Given the description of an element on the screen output the (x, y) to click on. 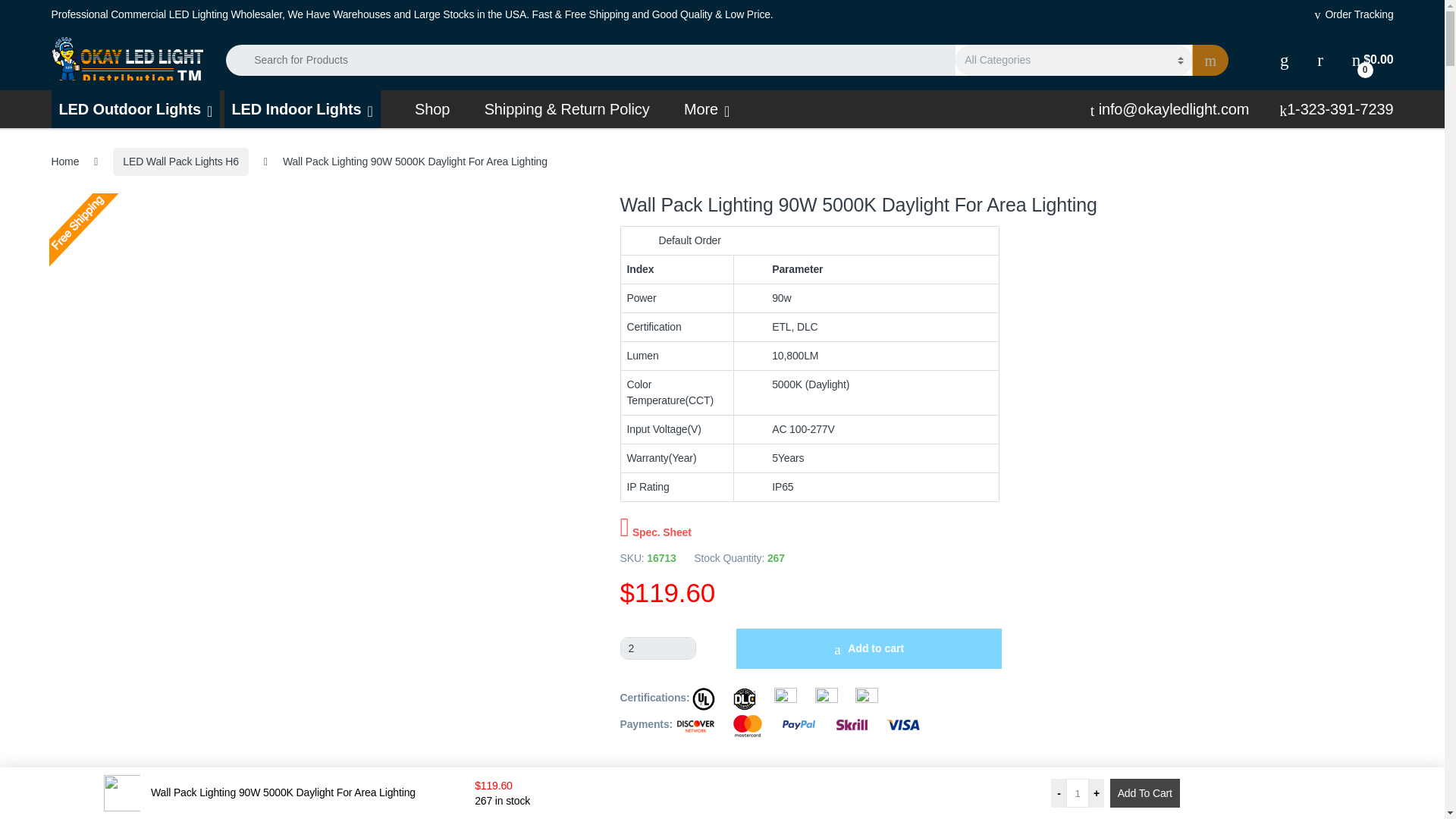
Order Tracking (1353, 15)
Add To Cart (1144, 792)
2 (657, 648)
Order Tracking (1353, 15)
